Given the description of an element on the screen output the (x, y) to click on. 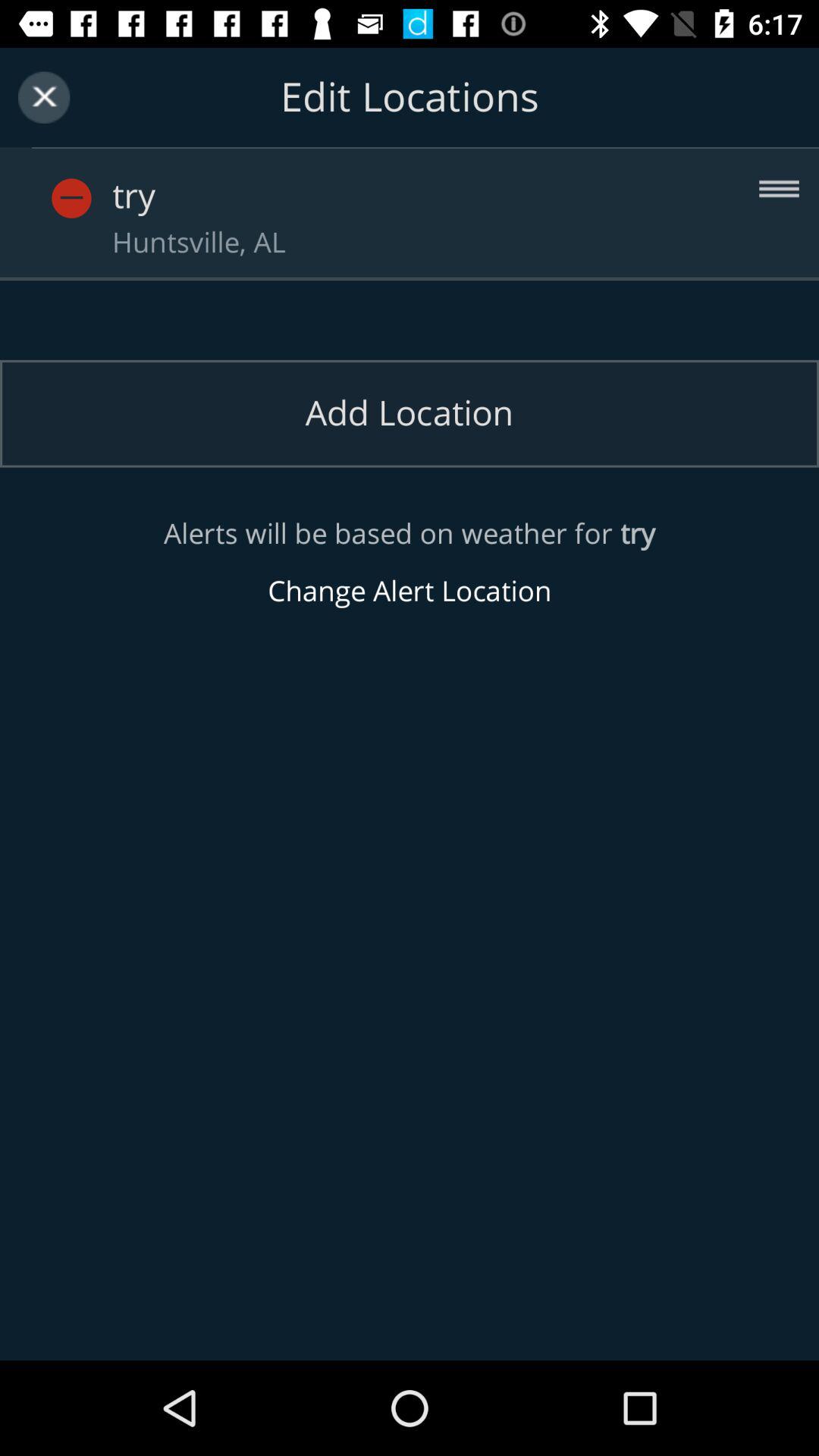
delete (71, 198)
